Given the description of an element on the screen output the (x, y) to click on. 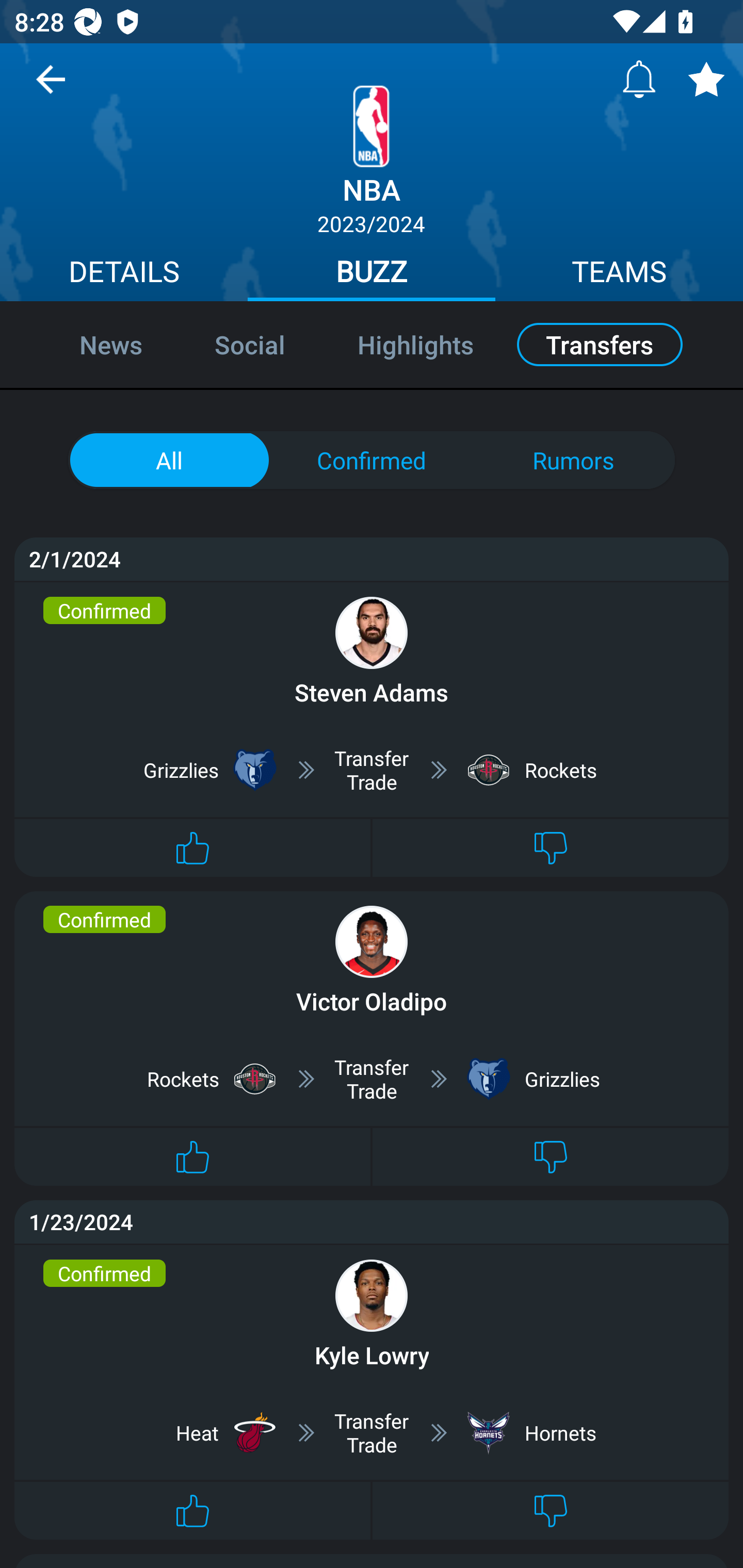
Navigate up (50, 86)
DETAILS (123, 274)
BUZZ (371, 274)
TEAMS (619, 274)
News (89, 344)
Social (249, 344)
Highlights (415, 344)
Confirmed (371, 460)
Rumors (573, 460)
Confirmed Kyle Lowry Heat Transfer
Trade Hornets (371, 1391)
